Given the description of an element on the screen output the (x, y) to click on. 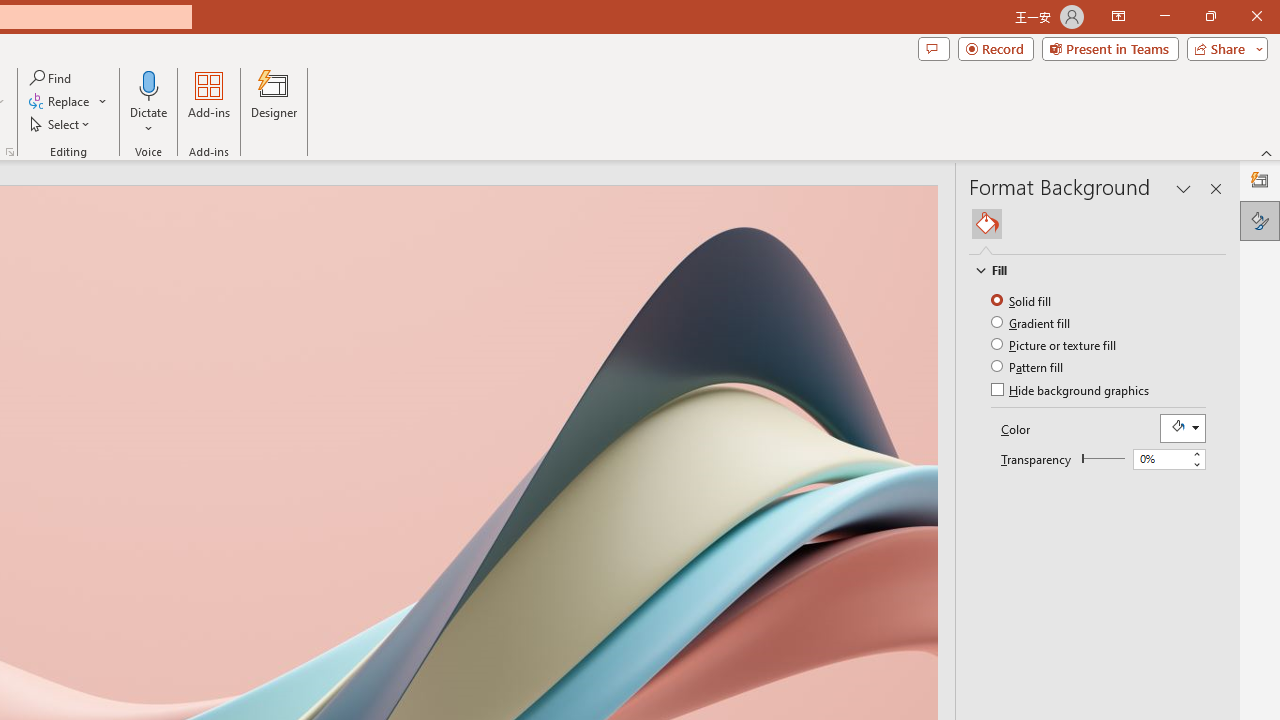
Hide background graphics (1071, 391)
Fill Color RGB(255, 255, 255) (1182, 427)
Solid fill (1022, 300)
Page right (1106, 458)
Transparency (1168, 459)
